Given the description of an element on the screen output the (x, y) to click on. 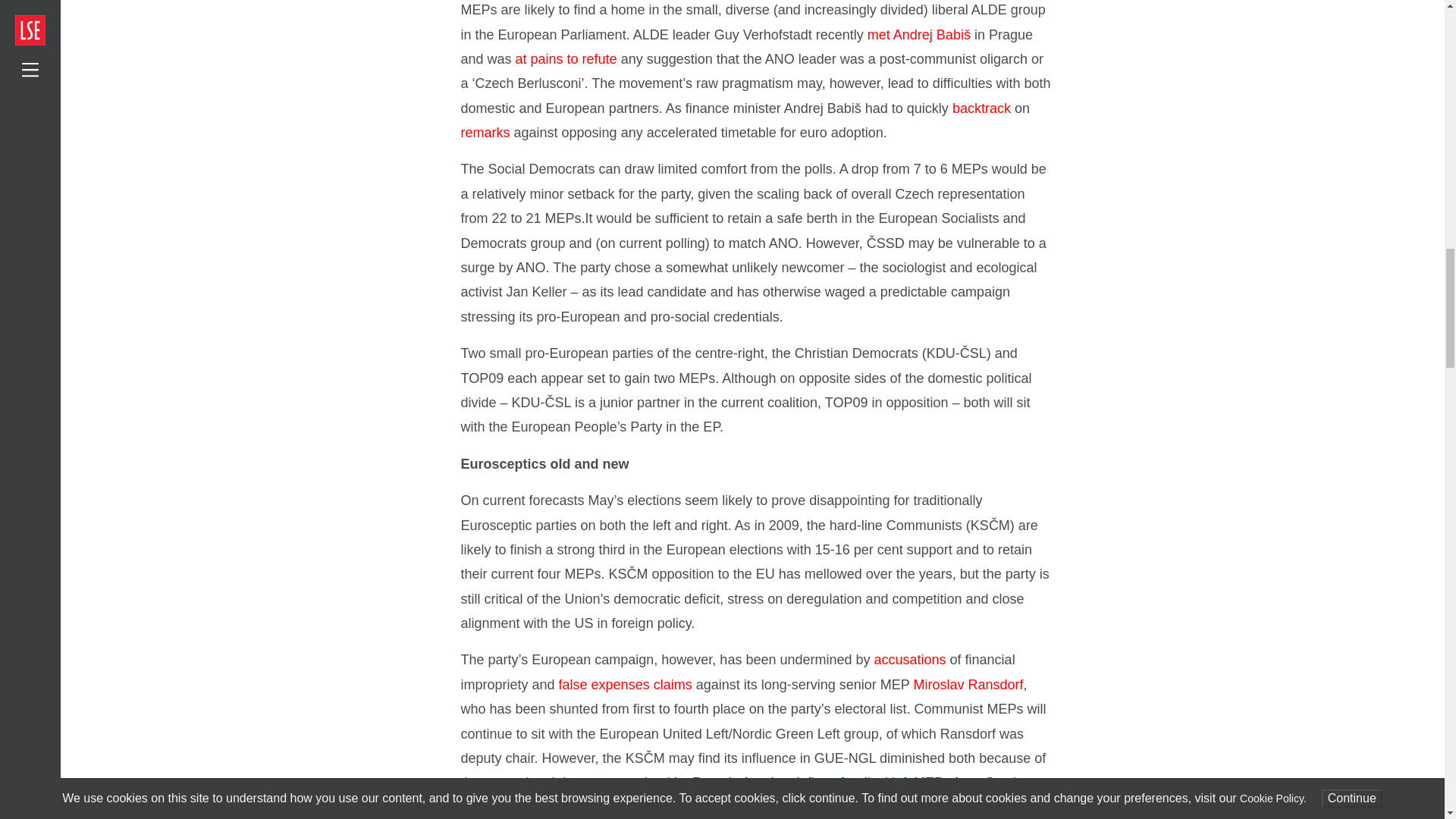
at pains to refute (566, 58)
